Given the description of an element on the screen output the (x, y) to click on. 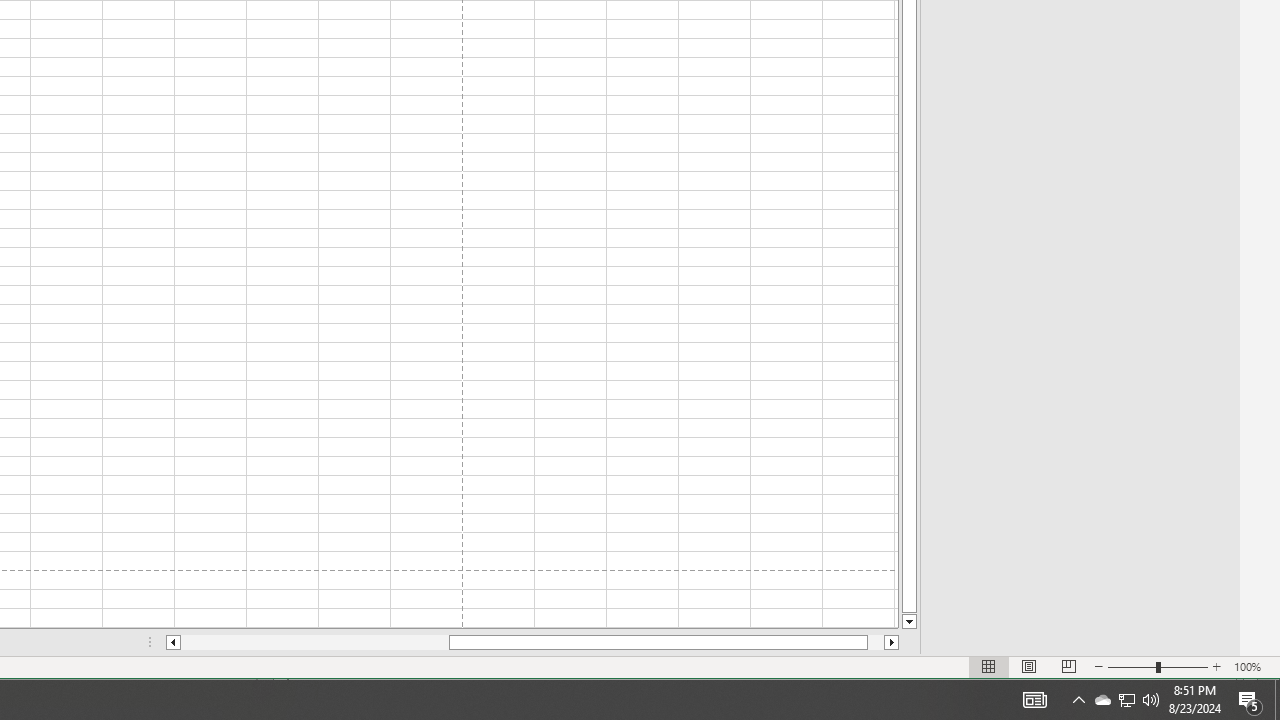
Action Center, 5 new notifications (1250, 699)
AutomationID: 4105 (1034, 699)
